Given the description of an element on the screen output the (x, y) to click on. 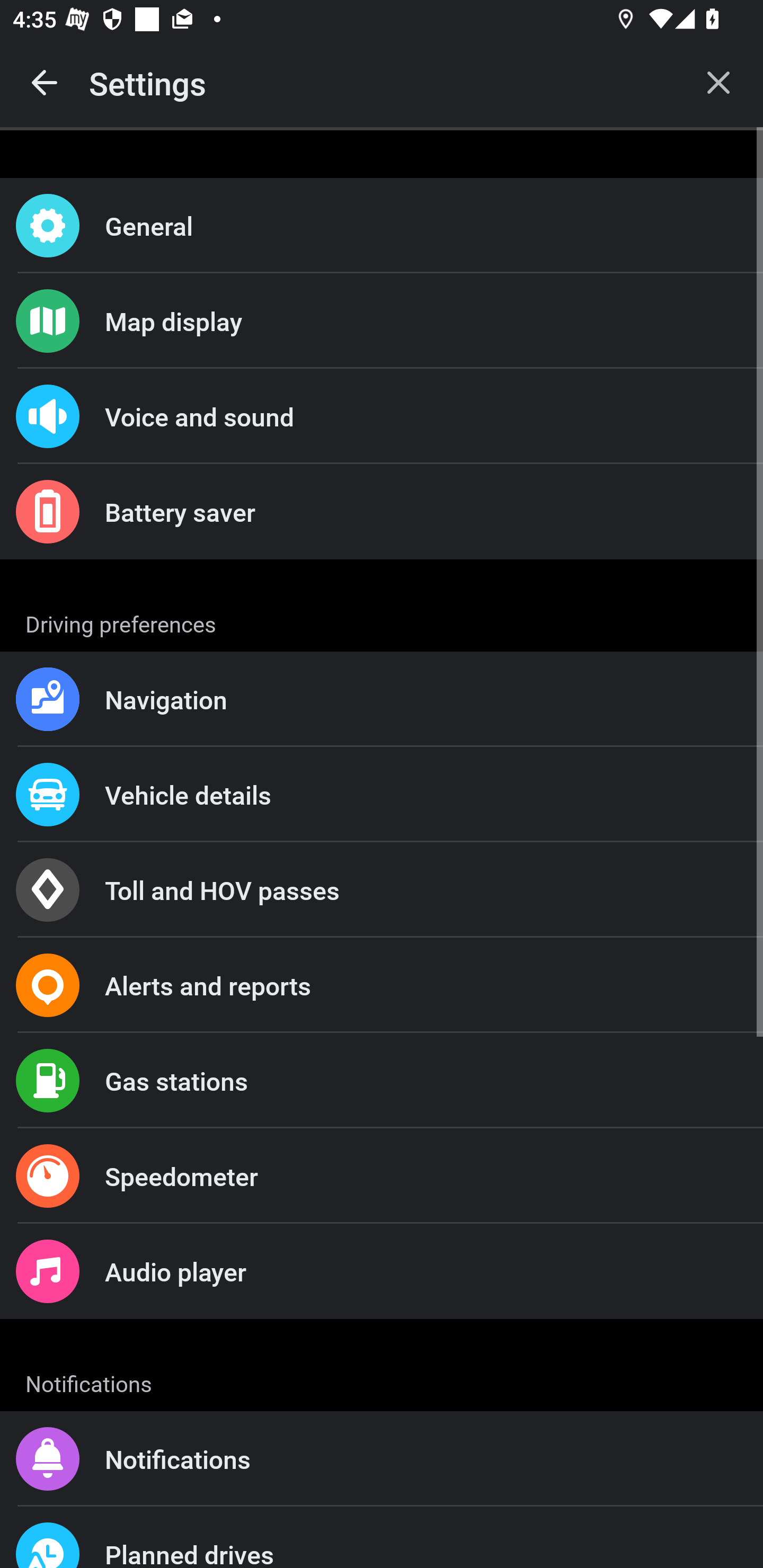
General (381, 225)
Map display (381, 320)
Voice and sound (381, 416)
Battery saver (381, 511)
ACTION_CELL_ICON Settings ACTION_CELL_TEXT (381, 620)
Navigation (381, 699)
Vehicle details (381, 794)
Toll and HOV passes (381, 889)
Alerts and reports (381, 985)
Gas stations (381, 1080)
Speedometer (381, 1175)
Audio player (381, 1270)
